Given the description of an element on the screen output the (x, y) to click on. 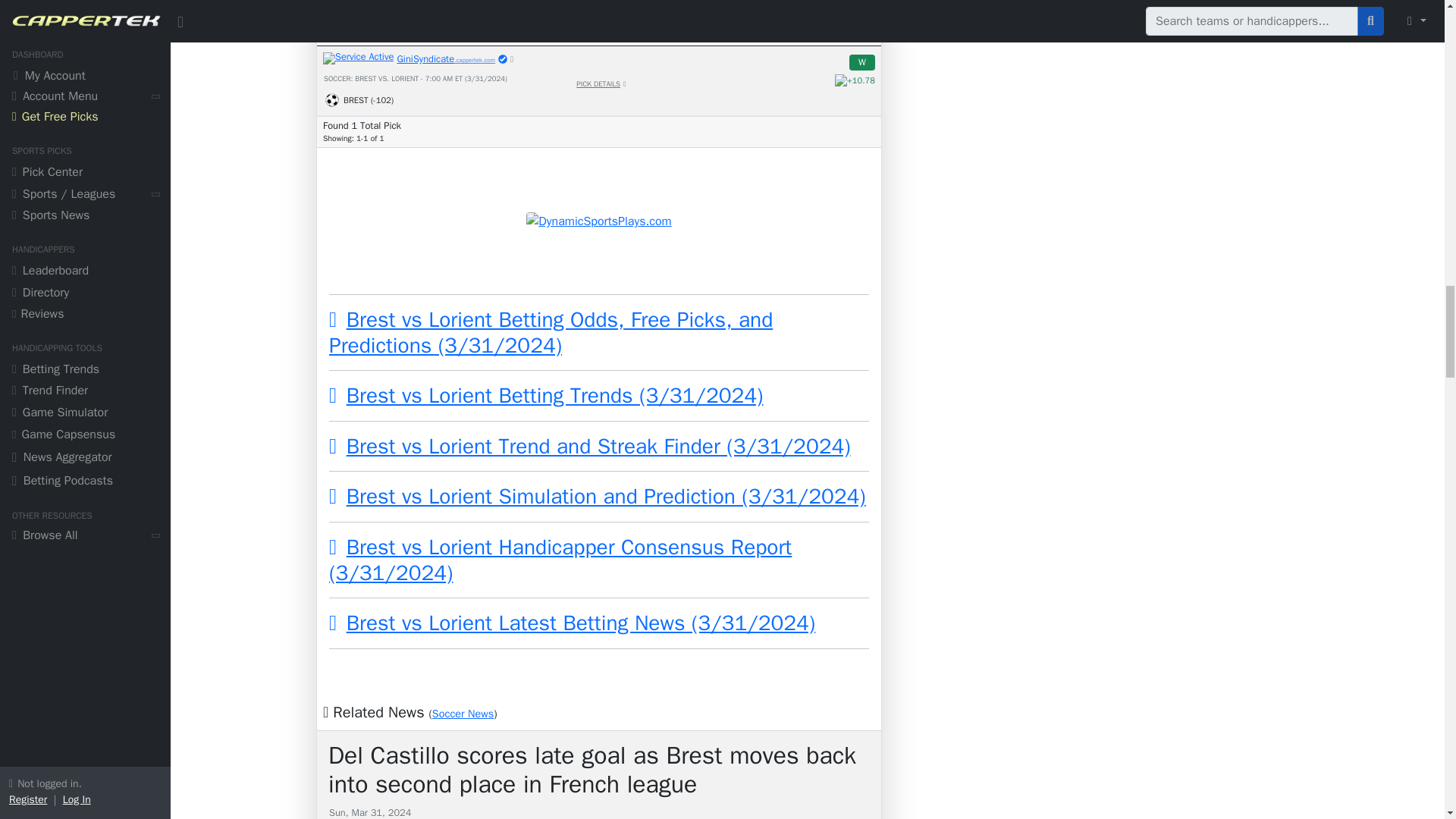
Pro Verified Service (501, 58)
Service Active (358, 58)
Pro Verified Service (414, 58)
